Given the description of an element on the screen output the (x, y) to click on. 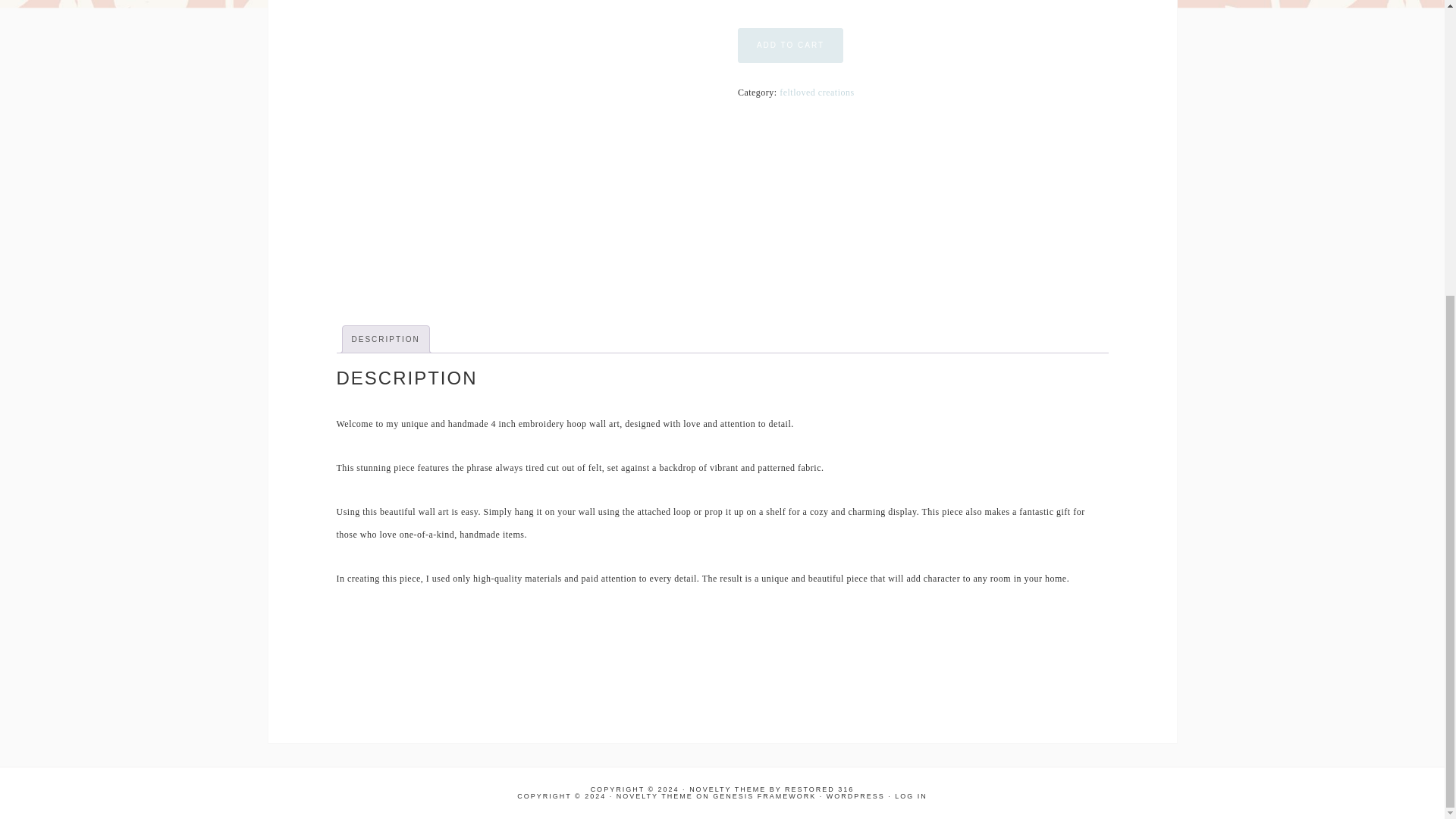
RESTORED 316 (818, 789)
LOG IN (911, 796)
GENESIS FRAMEWORK (764, 796)
feltloved creations (815, 91)
NOVELTY THEME (654, 796)
DESCRIPTION (386, 338)
WORDPRESS (856, 796)
NOVELTY THEME (726, 789)
ADD TO CART (790, 45)
